Given the description of an element on the screen output the (x, y) to click on. 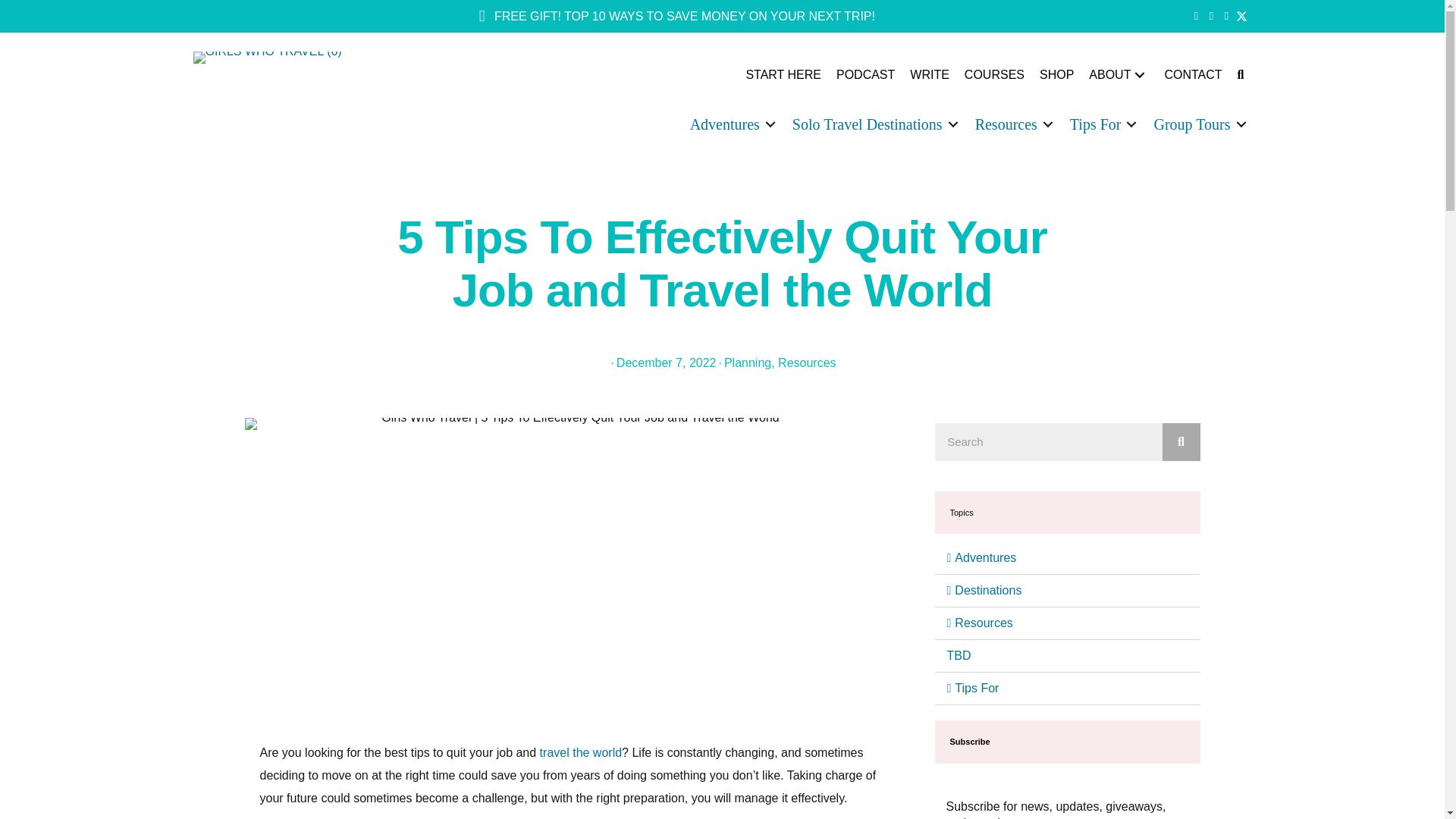
Facebook (1196, 15)
Pinterest (1227, 15)
Click Here (676, 16)
FREE GIFT! TOP 10 WAYS TO SAVE MONEY ON YOUR NEXT TRIP! (676, 16)
Instagram (1212, 15)
